Given the description of an element on the screen output the (x, y) to click on. 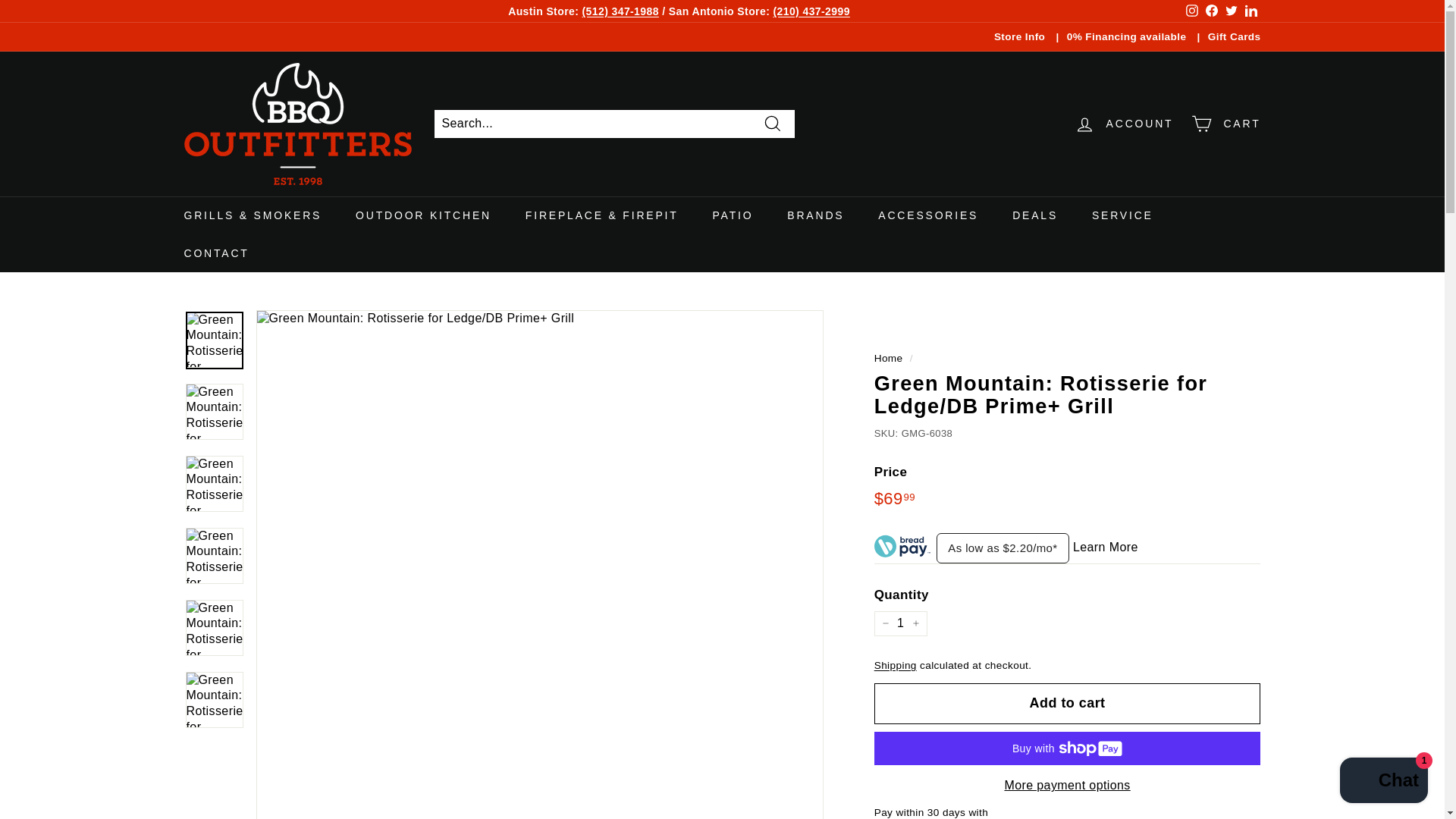
Twitter (1230, 11)
ACCOUNT (1123, 123)
BBQ Outfitters on Instagram (1190, 11)
Gift Cards (1234, 36)
BBQ Outfitters on Twitter (1230, 11)
Instagram (1190, 11)
LinkedIn (1250, 11)
1 (901, 623)
BBQ Outfitters on Facebook (1211, 11)
Facebook (1211, 11)
BBQ Outfitters on LinkedIn (1250, 11)
Back to the frontpage (888, 357)
